Given the description of an element on the screen output the (x, y) to click on. 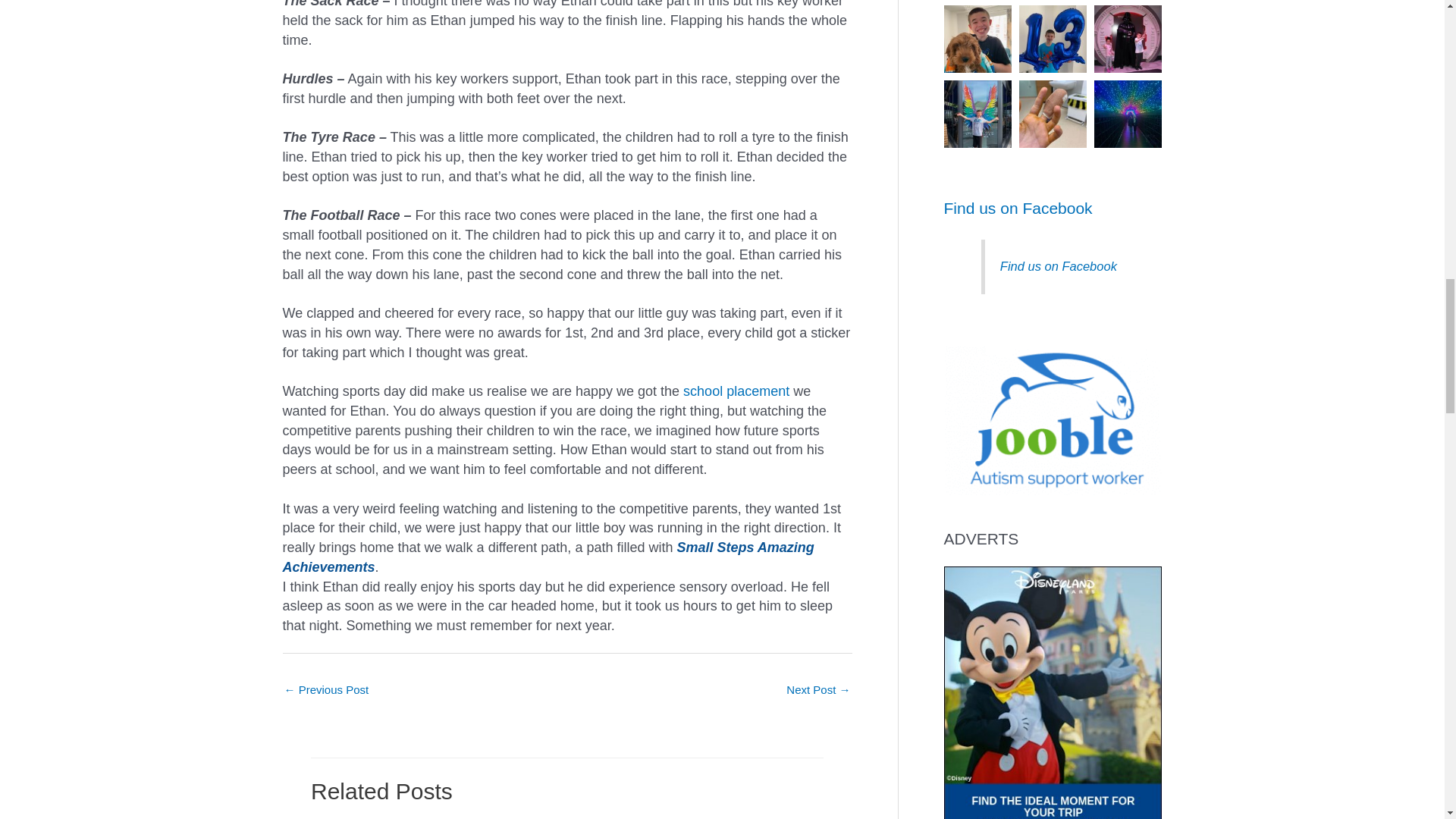
My Sunday Photo (325, 691)
